Given the description of an element on the screen output the (x, y) to click on. 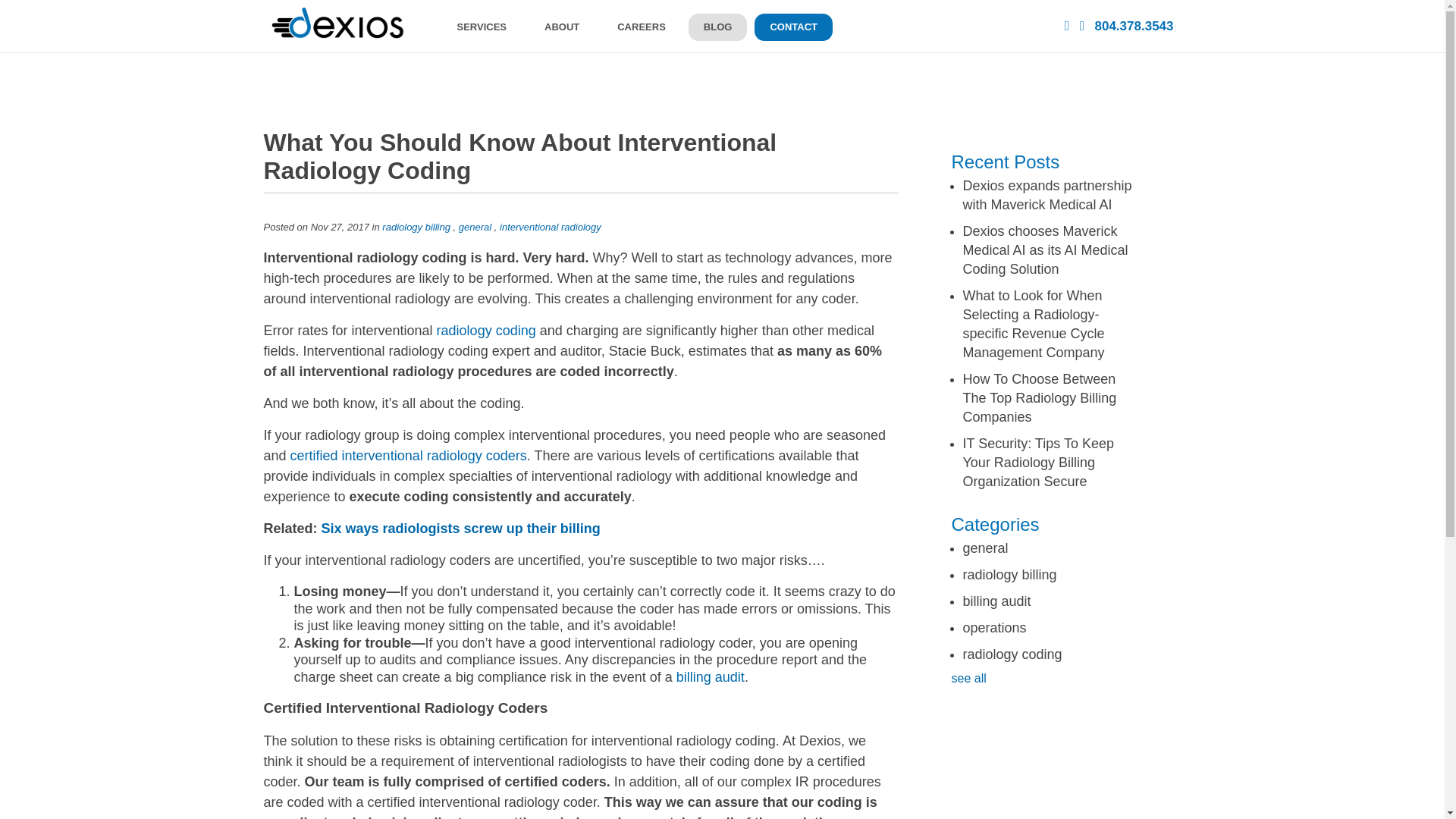
dexioscorp (337, 22)
interventional radiology (550, 226)
operations (994, 627)
radiology coding (1012, 654)
BLOG (718, 26)
radiology coding (485, 330)
general (475, 226)
CAREERS (641, 26)
Six ways radiologists screw up their billing (458, 528)
